Given the description of an element on the screen output the (x, y) to click on. 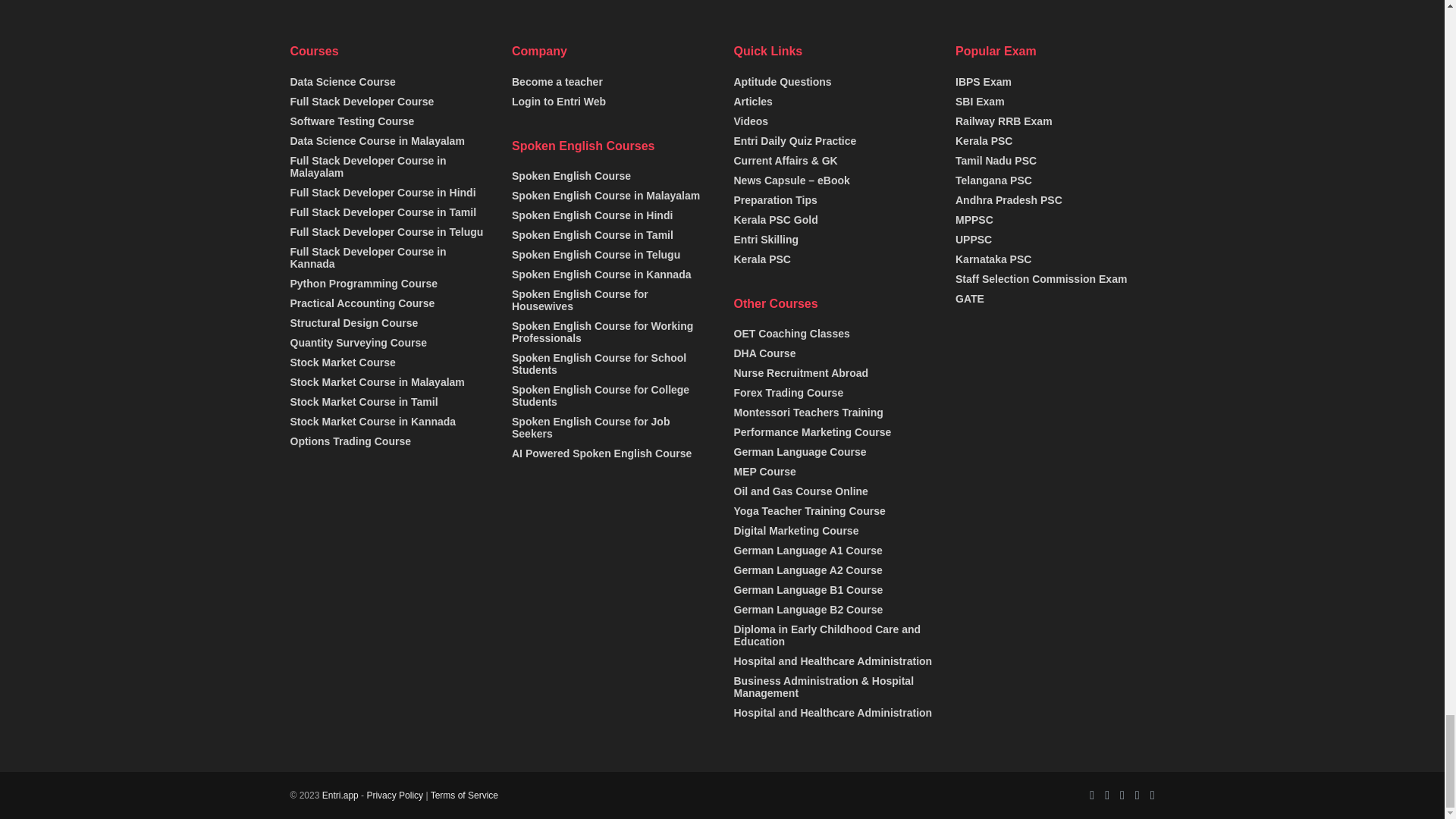
Terms of Service (463, 795)
Entri (339, 795)
